Given the description of an element on the screen output the (x, y) to click on. 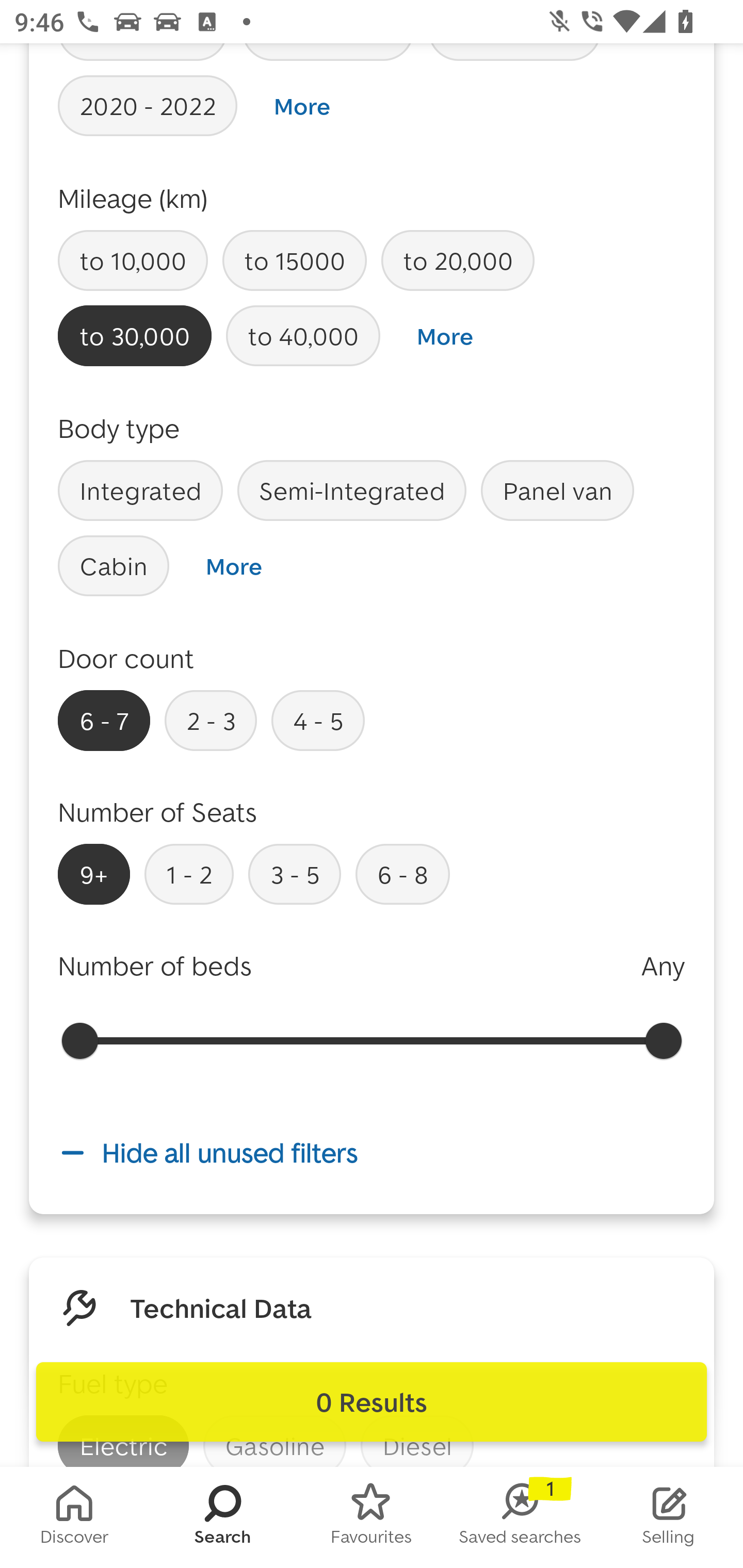
2020 - 2022 (147, 105)
More (301, 106)
Mileage (km) (132, 198)
to 10,000 (132, 260)
to 15000 (294, 260)
to 20,000 (457, 260)
to 30,000 (134, 335)
to 40,000 (302, 335)
More (444, 335)
Body type (118, 427)
Integrated (139, 489)
Semi-Integrated (351, 489)
Panel van (556, 489)
Cabin (113, 564)
More (233, 565)
Door count (125, 658)
6 - 7 (103, 720)
2 - 3 (210, 720)
4 - 5 (317, 720)
Number of Seats (157, 811)
9+ (93, 873)
1 - 2 (189, 873)
3 - 5 (294, 873)
6 - 8 (402, 873)
Number of beds (154, 965)
Any (663, 965)
0.0 Range start, 0 8000.0 Range end, 8000 (371, 1040)
Hide all unused filters (371, 1153)
Technical Data (221, 1307)
0 Results (371, 1401)
HOMESCREEN Discover (74, 1517)
SEARCH Search (222, 1517)
FAVORITES Favourites (371, 1517)
SAVED_SEARCHES Saved searches 1 (519, 1517)
STOCK_LIST Selling (668, 1517)
